Given the description of an element on the screen output the (x, y) to click on. 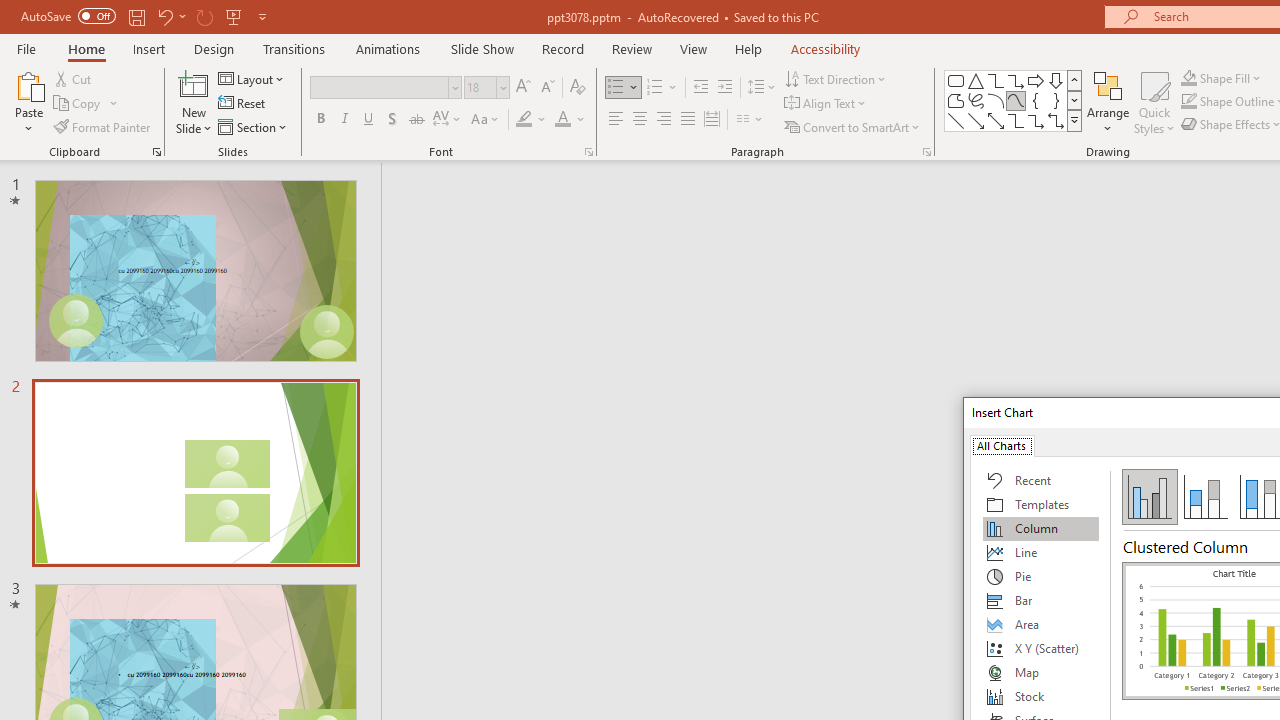
Line Arrow: Double (995, 120)
Bar (1041, 600)
Pie (1041, 576)
